Given the description of an element on the screen output the (x, y) to click on. 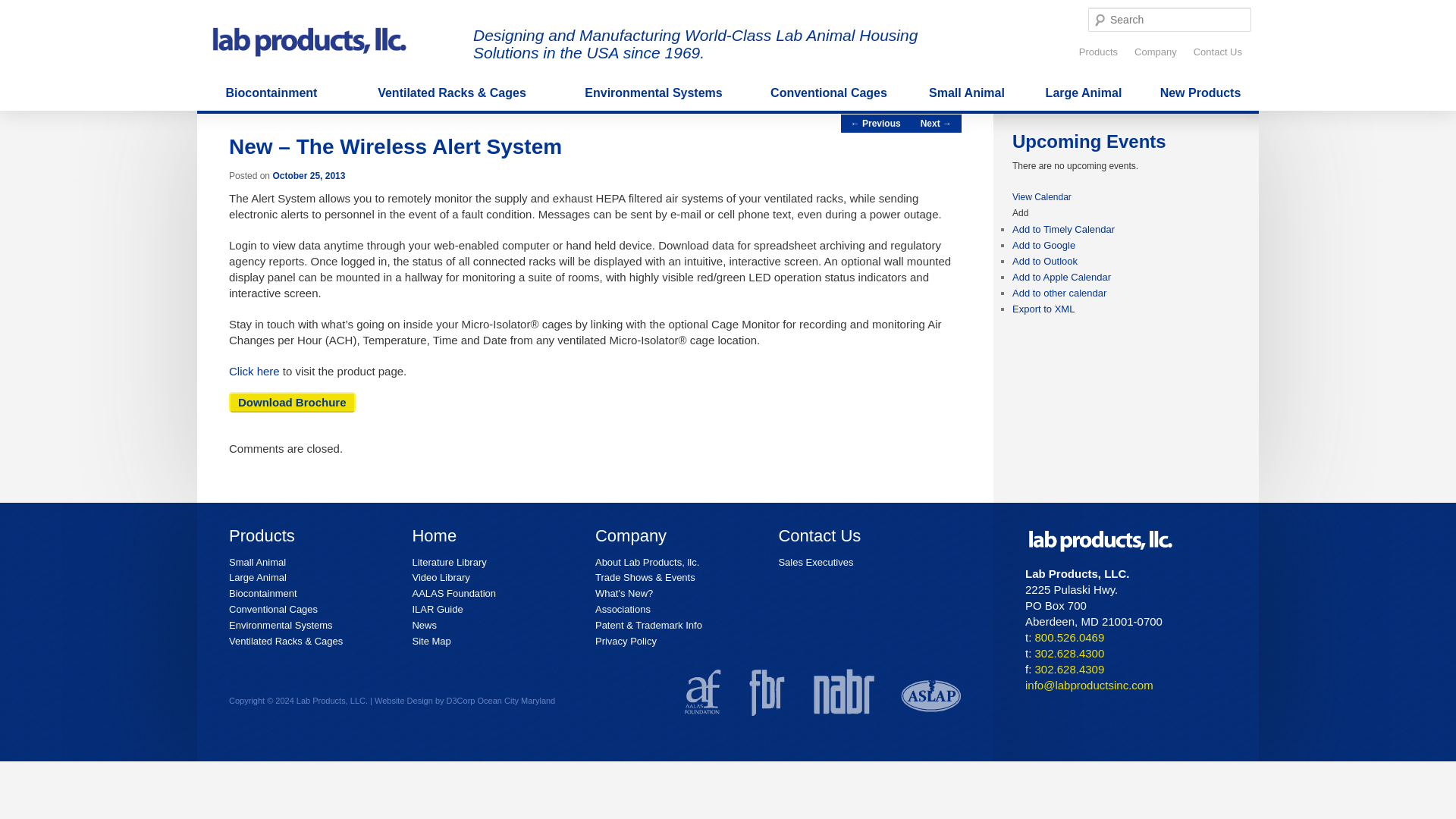
Biocontainment (271, 93)
Conventional Cages (828, 93)
Environmental Systems (653, 93)
Products (1098, 51)
Company (1155, 51)
Search (24, 10)
Contact Us (1217, 51)
